Given the description of an element on the screen output the (x, y) to click on. 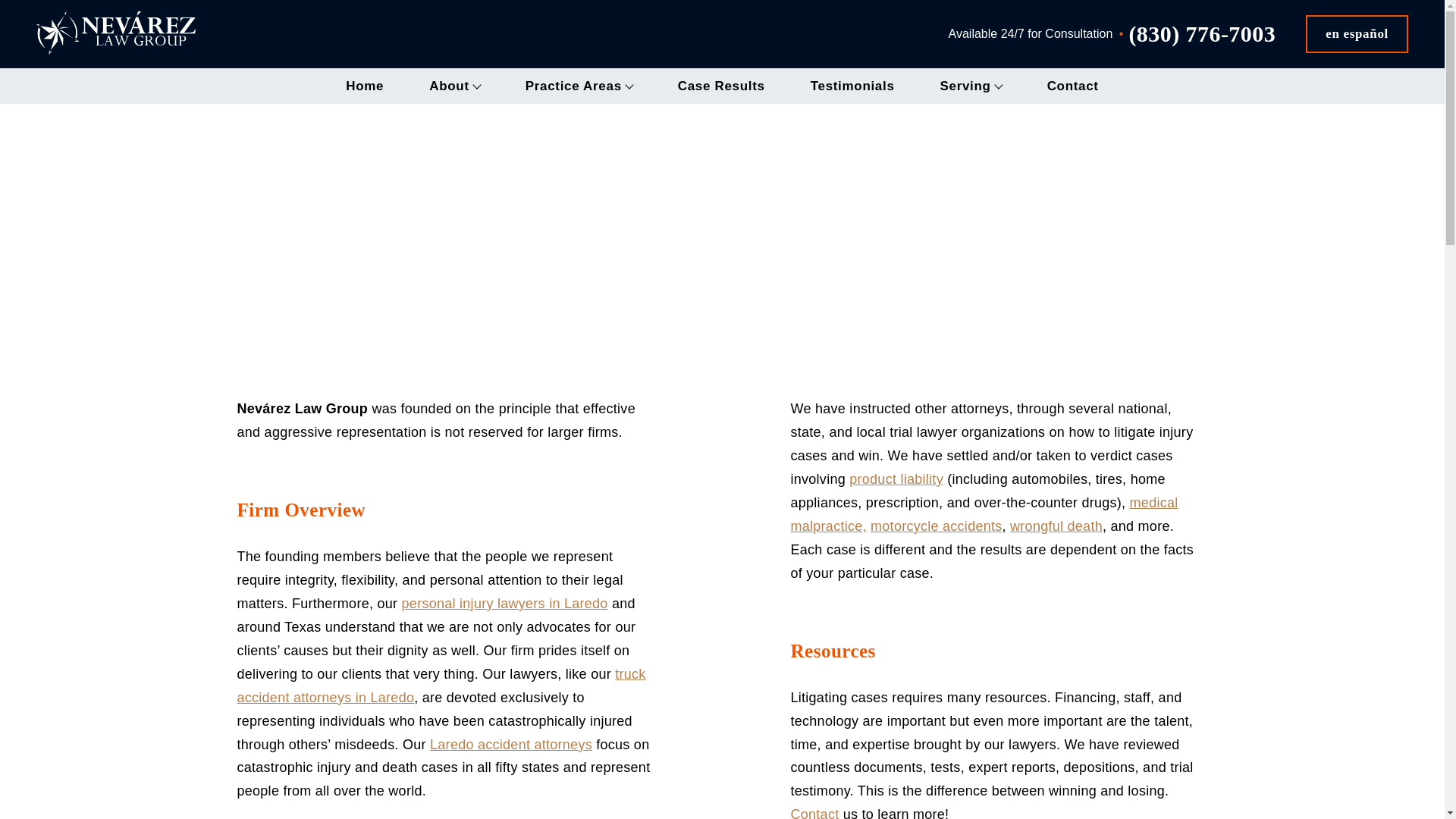
Contact (814, 812)
Contact (1072, 88)
Practice Areas (578, 88)
motorcycle accidents (935, 525)
medical malpractice, (983, 514)
product liability (895, 478)
Case Results (721, 88)
Testimonials (852, 88)
About (454, 88)
Laredo accident attorneys (510, 744)
